Given the description of an element on the screen output the (x, y) to click on. 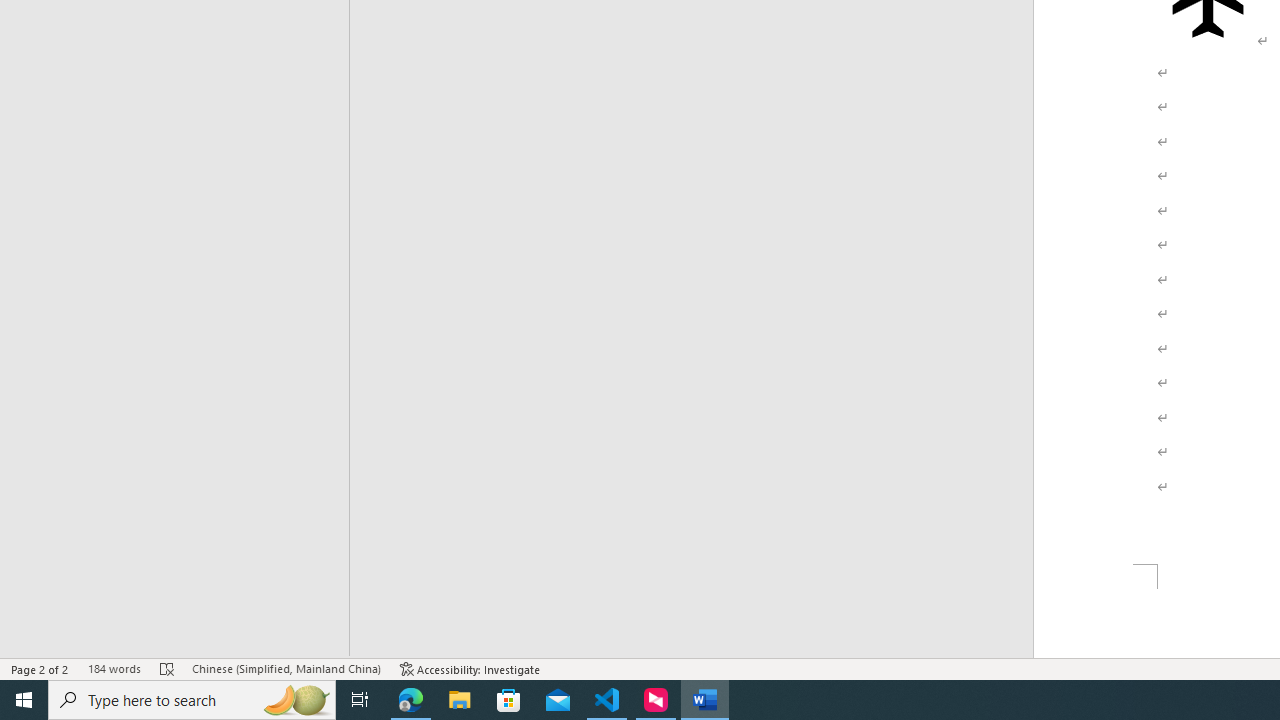
Word Count 184 words (113, 668)
